Given the description of an element on the screen output the (x, y) to click on. 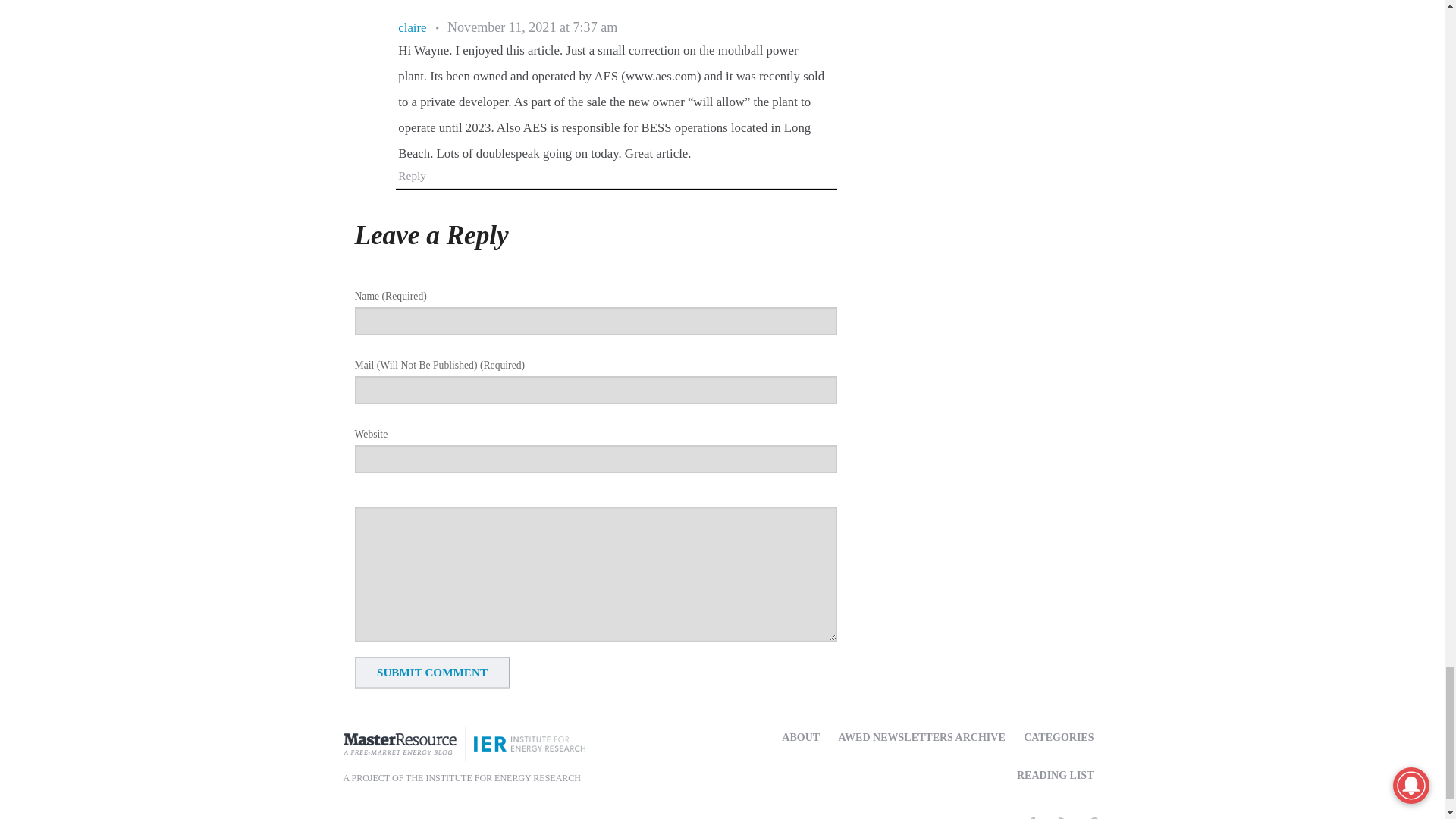
Reply (411, 174)
Submit Comment (433, 672)
November 11, 2021 at 7:37 am (531, 27)
Submit Comment (433, 672)
claire (411, 27)
